Given the description of an element on the screen output the (x, y) to click on. 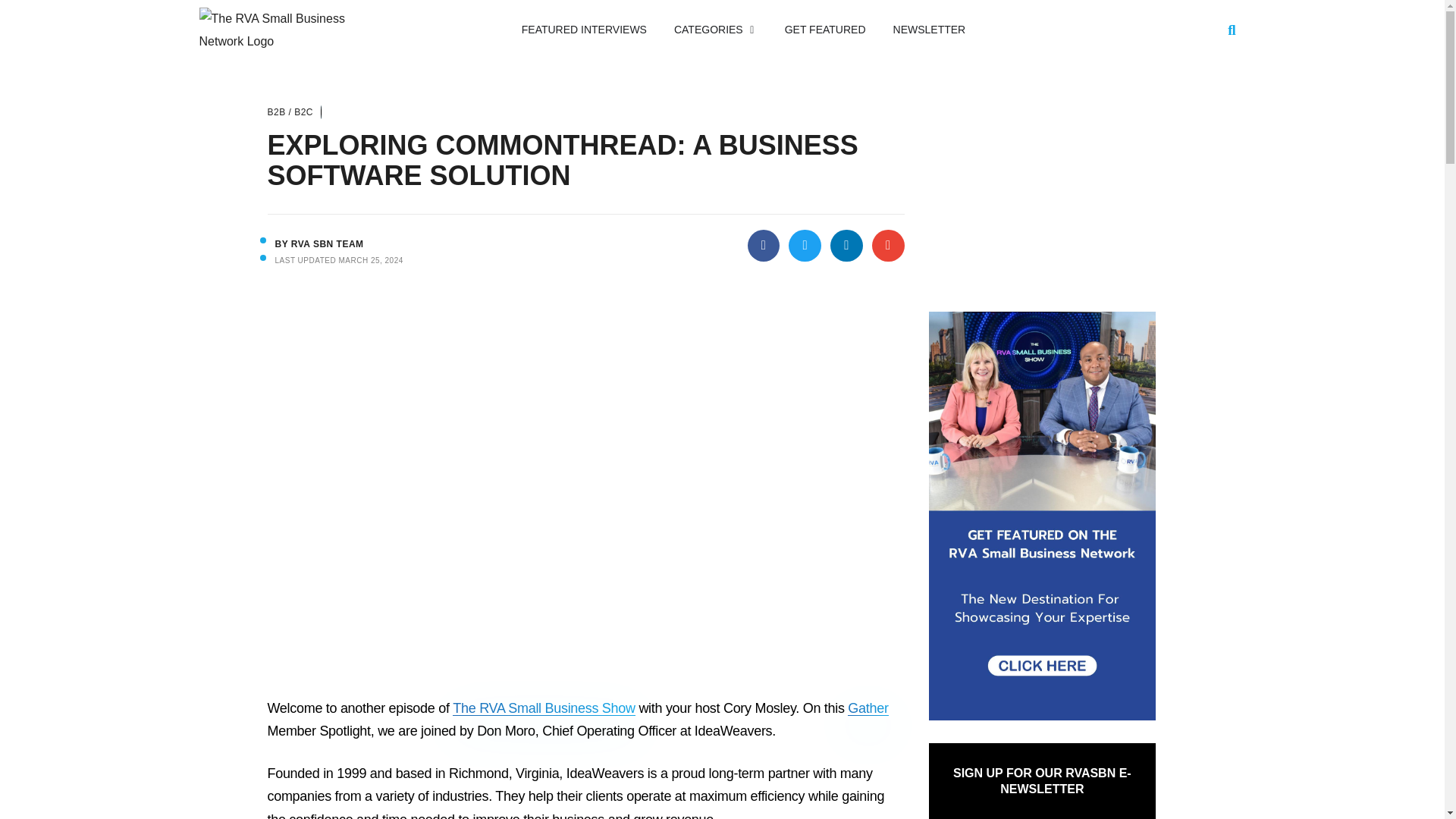
NEWSLETTER (929, 29)
BY RVA SBN TEAM (318, 243)
FEATURED INTERVIEWS (583, 29)
The RVA Small Business Show (543, 708)
GET FEATURED (825, 29)
Gather (867, 708)
